Given the description of an element on the screen output the (x, y) to click on. 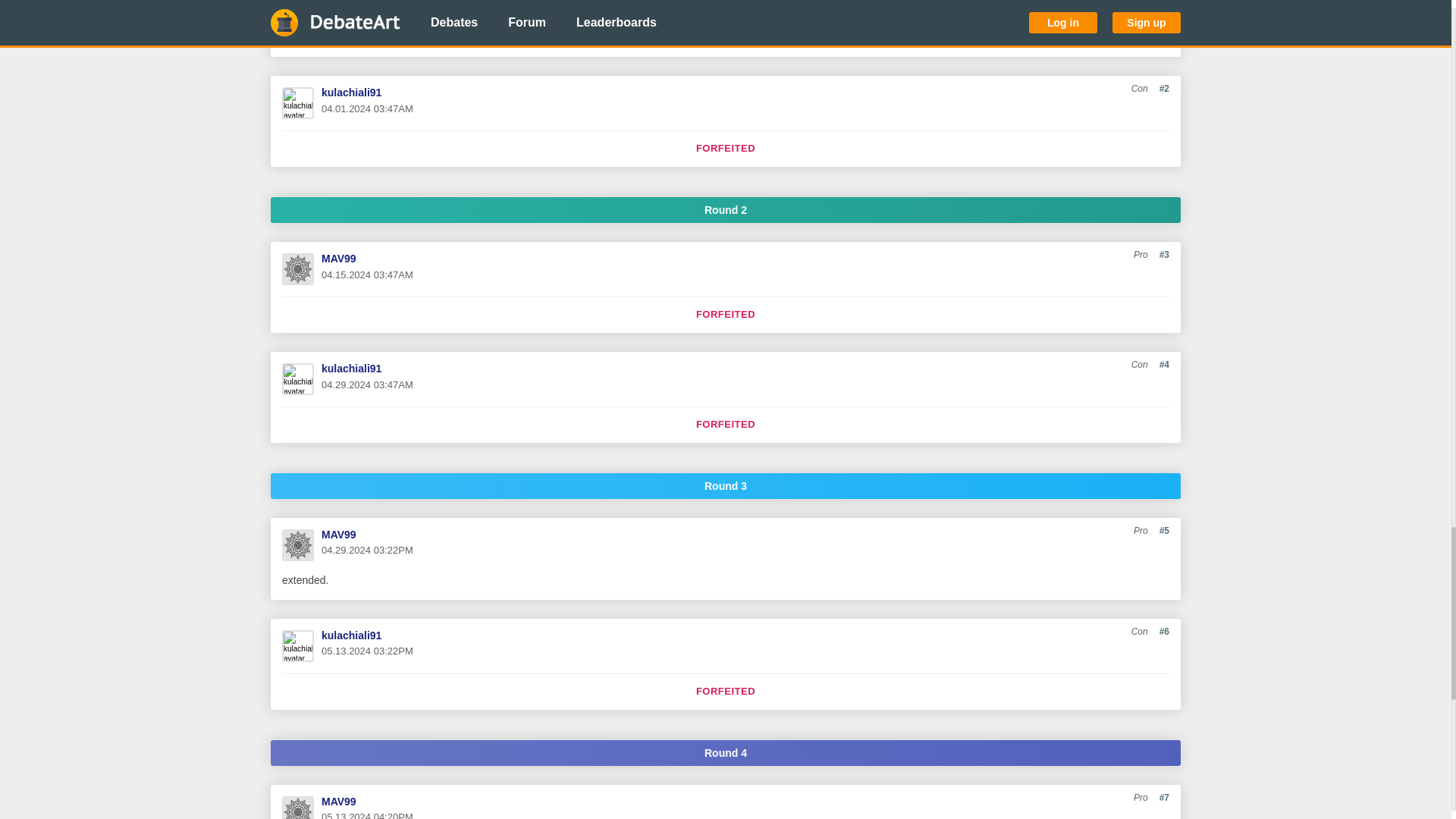
MAV99 (338, 258)
kulachiali91 (351, 92)
kulachiali91 (351, 368)
